Given the description of an element on the screen output the (x, y) to click on. 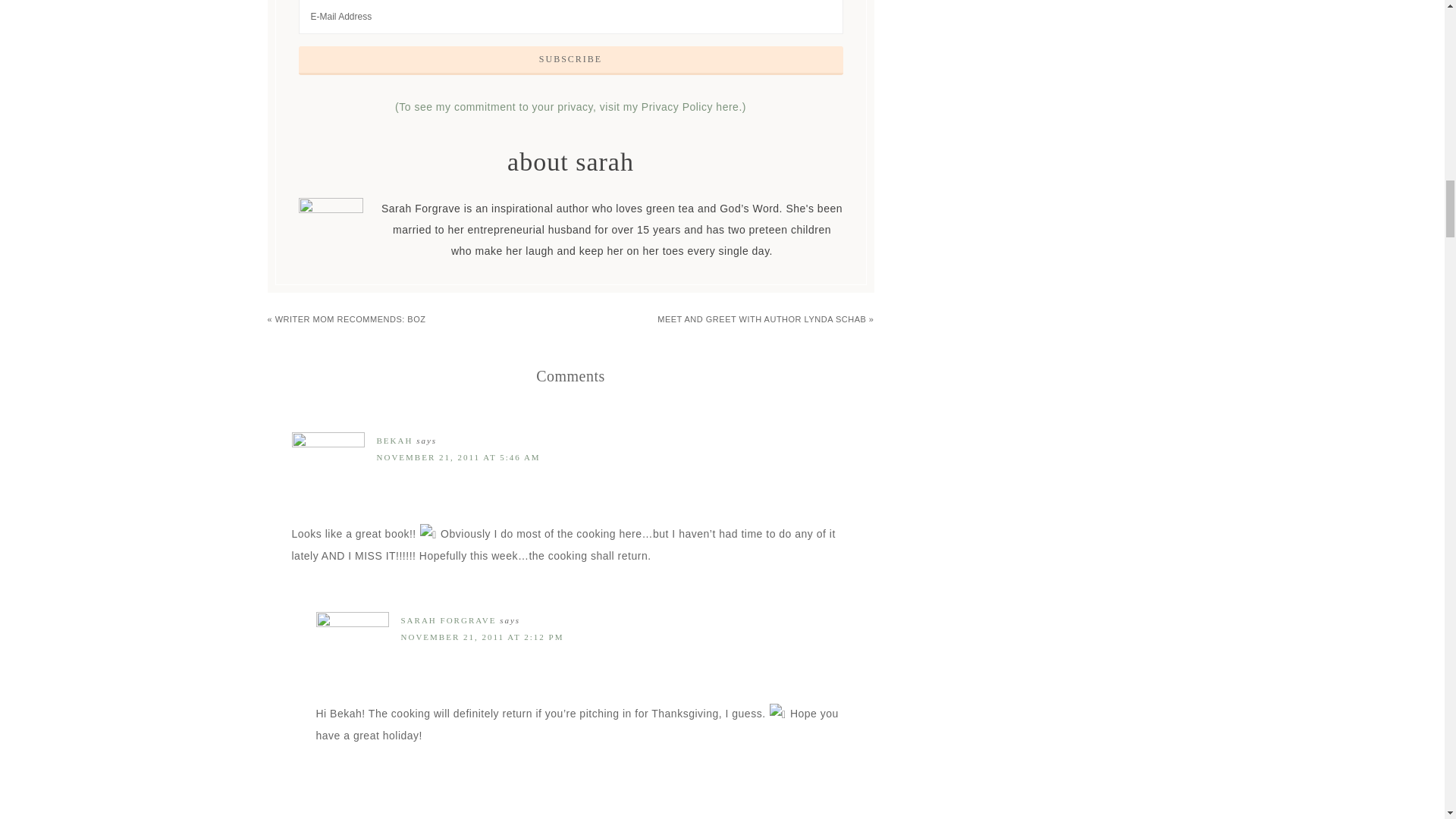
NOVEMBER 21, 2011 AT 2:12 PM (481, 636)
SARAH FORGRAVE (448, 619)
Subscribe (570, 60)
BEKAH (393, 440)
Subscribe (570, 60)
NOVEMBER 21, 2011 AT 5:46 AM (457, 456)
